Given the description of an element on the screen output the (x, y) to click on. 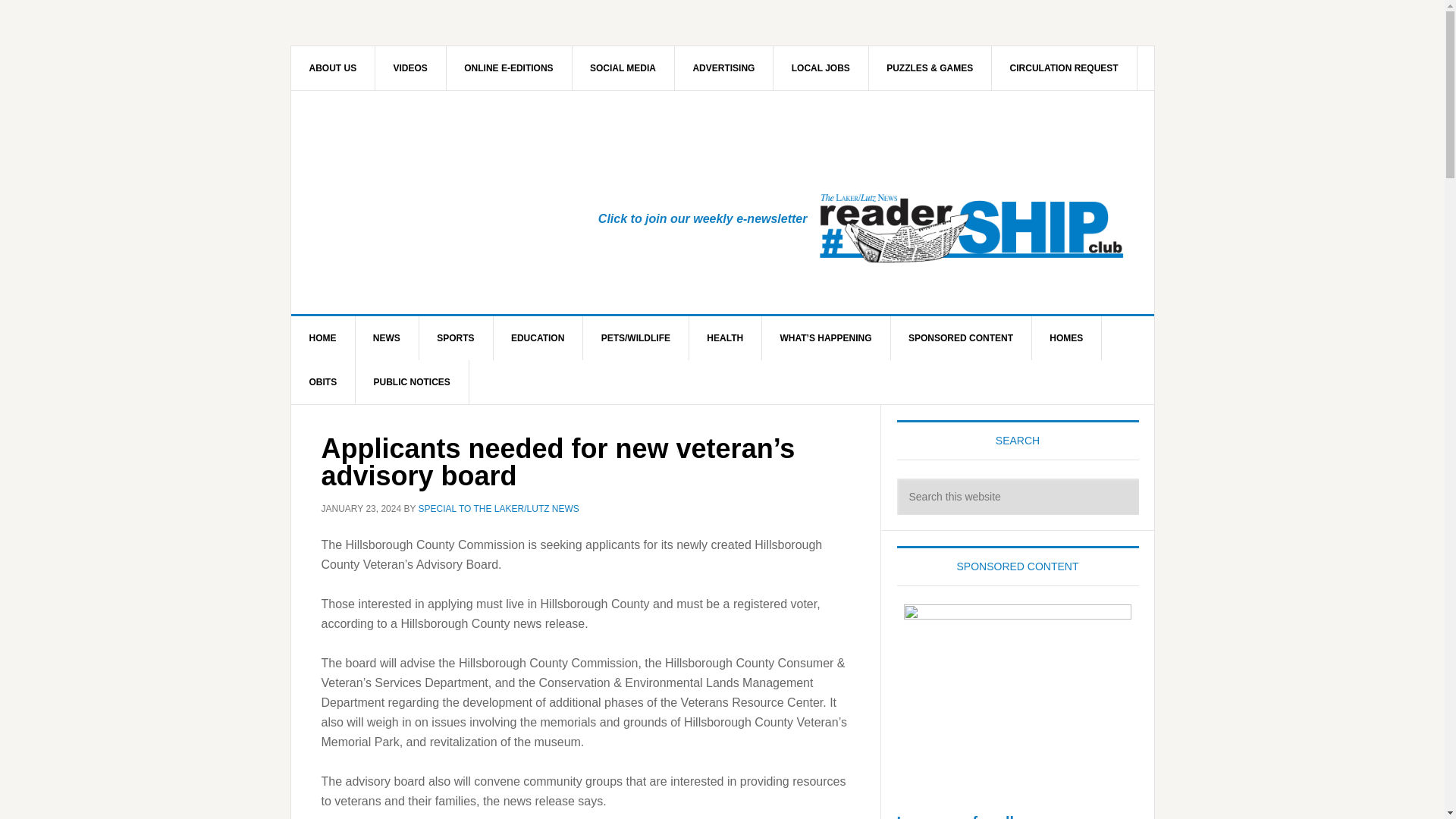
SOCIAL MEDIA (623, 67)
HOME (323, 338)
VIDEOS (410, 67)
ADVERTISING (723, 67)
Click to join our weekly e-newsletter (703, 218)
ONLINE E-EDITIONS (508, 67)
LOCAL JOBS (821, 67)
ABOUT US (333, 67)
NEWS (387, 338)
